Given the description of an element on the screen output the (x, y) to click on. 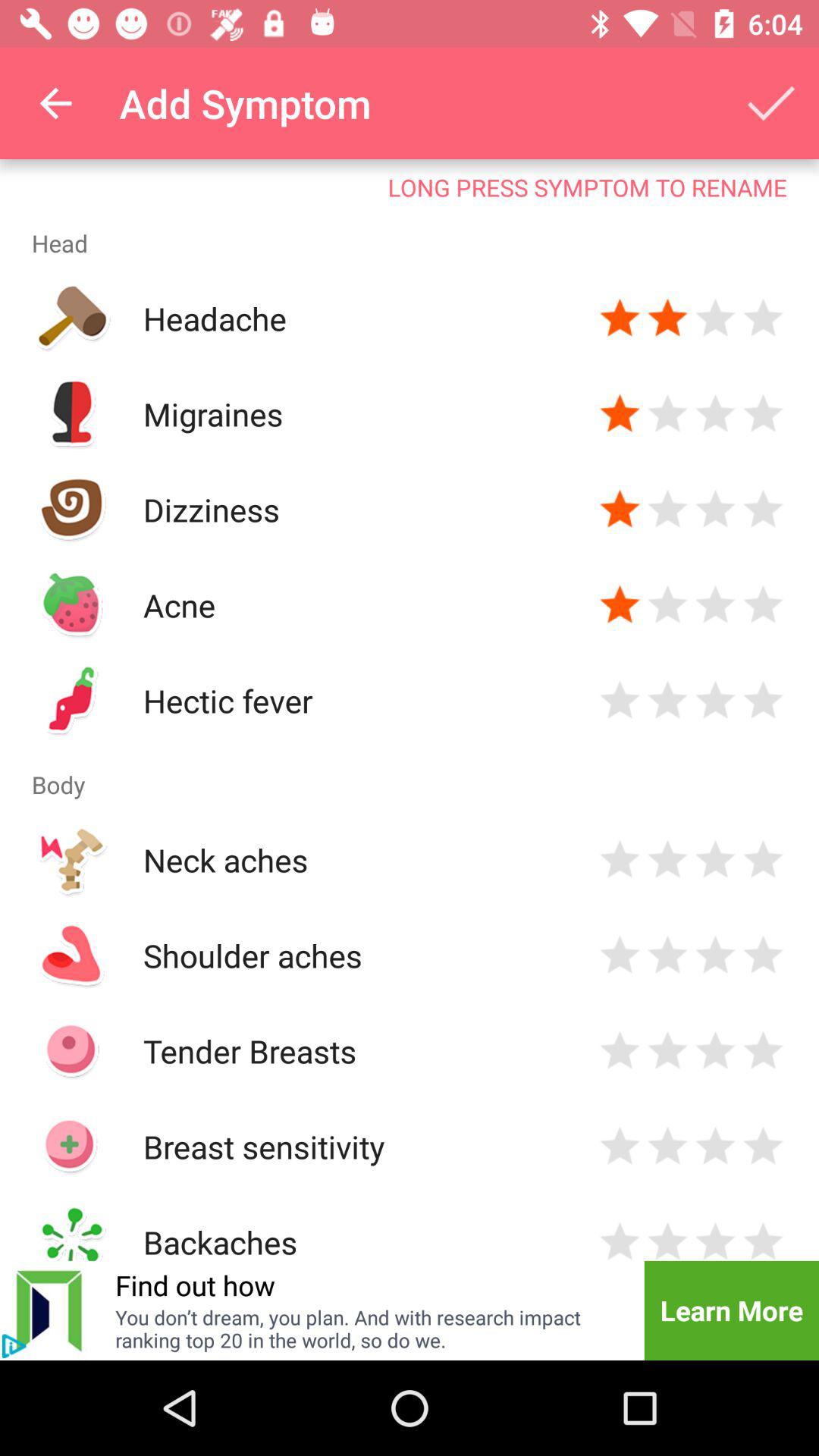
rate the level of symptom (763, 1146)
